Given the description of an element on the screen output the (x, y) to click on. 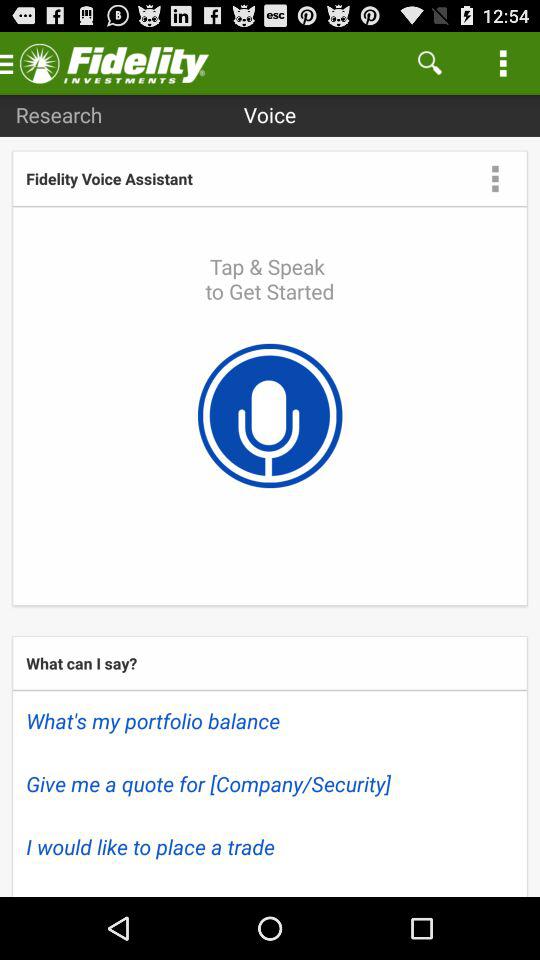
press app next to the fidelity voice assistant icon (495, 178)
